Given the description of an element on the screen output the (x, y) to click on. 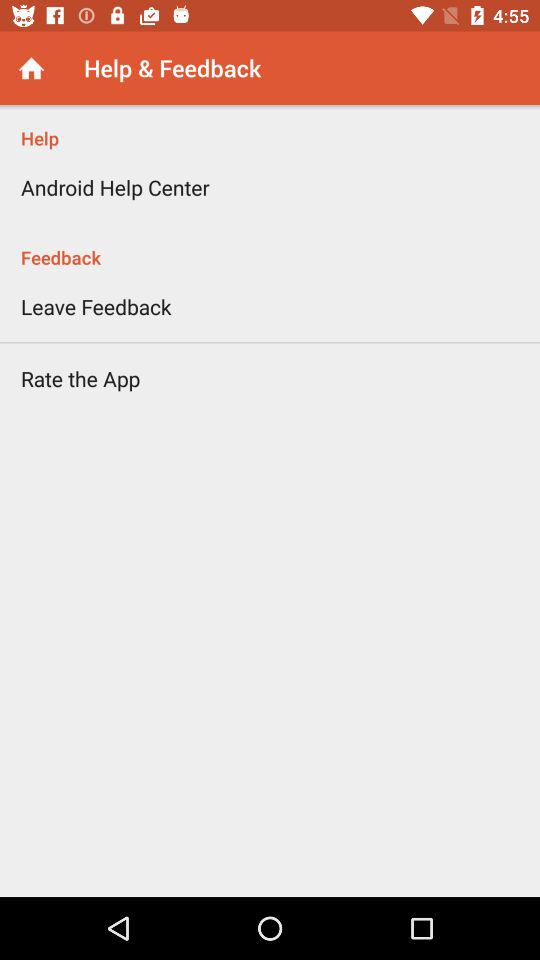
select the item above rate the app icon (96, 306)
